Given the description of an element on the screen output the (x, y) to click on. 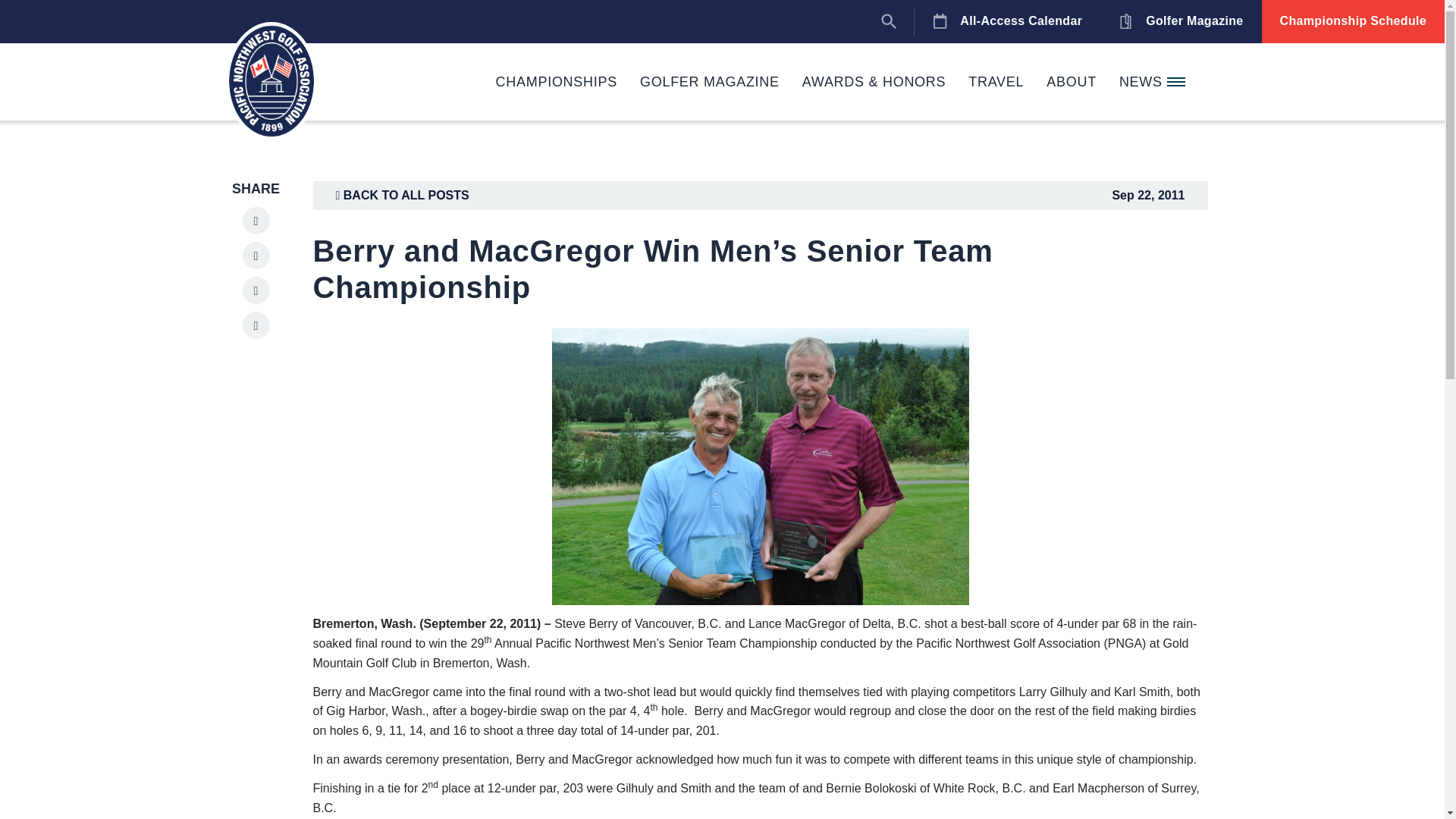
GOLFER MAGAZINE (709, 82)
All-Access Calendar (1007, 21)
CHAMPIONSHIPS (556, 82)
TRAVEL (995, 82)
Email (256, 325)
Twitter (256, 289)
ABOUT (1071, 82)
MacGregorBerry (760, 466)
Facebook (256, 255)
Golfer Magazine (1180, 21)
LinkedIn (256, 220)
